Given the description of an element on the screen output the (x, y) to click on. 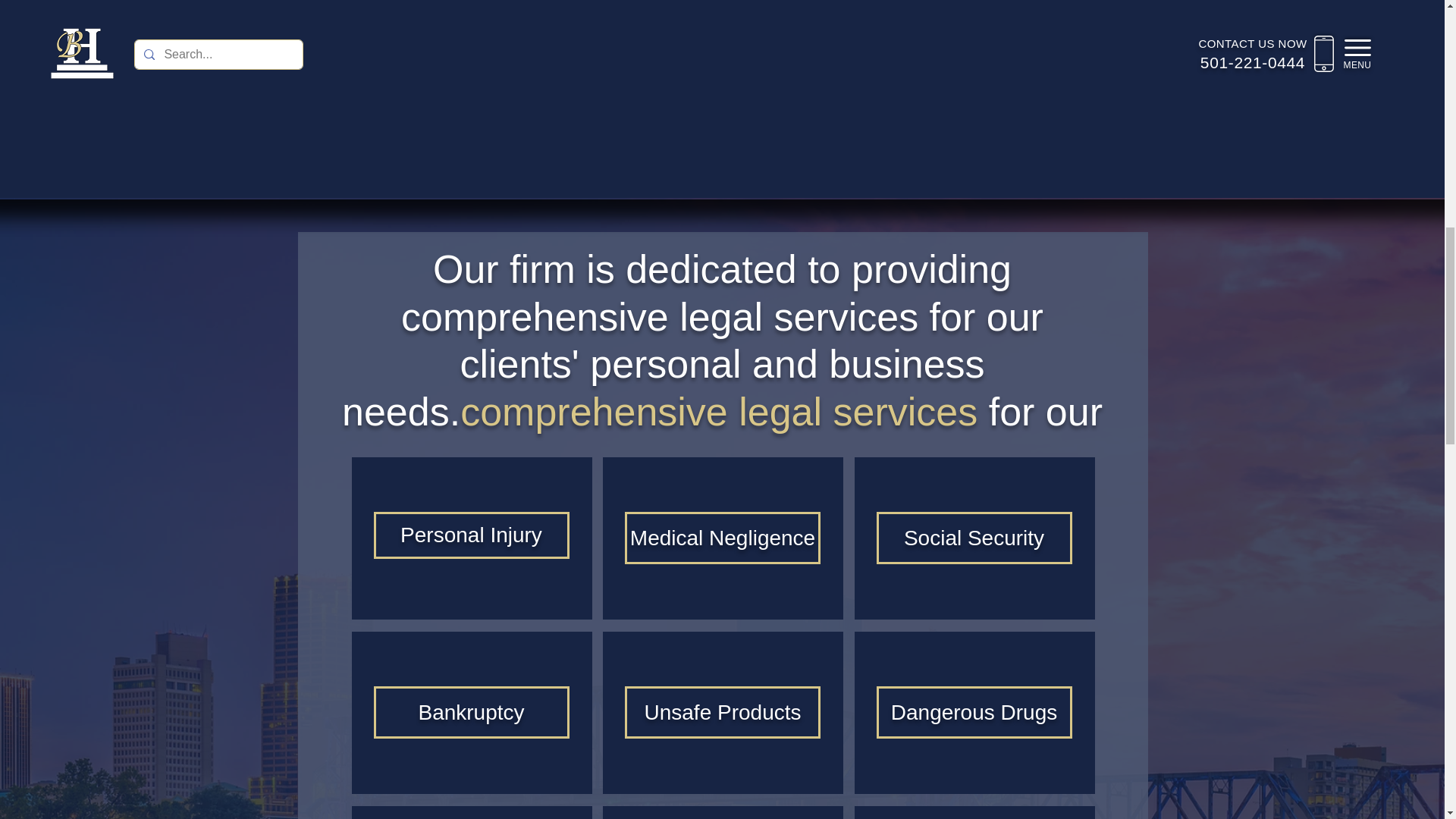
Social Security (973, 537)
Dangerous Drugs (974, 712)
Personal Injury (470, 535)
Unsafe Products (723, 712)
Medical Negligence (722, 537)
Bankruptcy (470, 712)
